Given the description of an element on the screen output the (x, y) to click on. 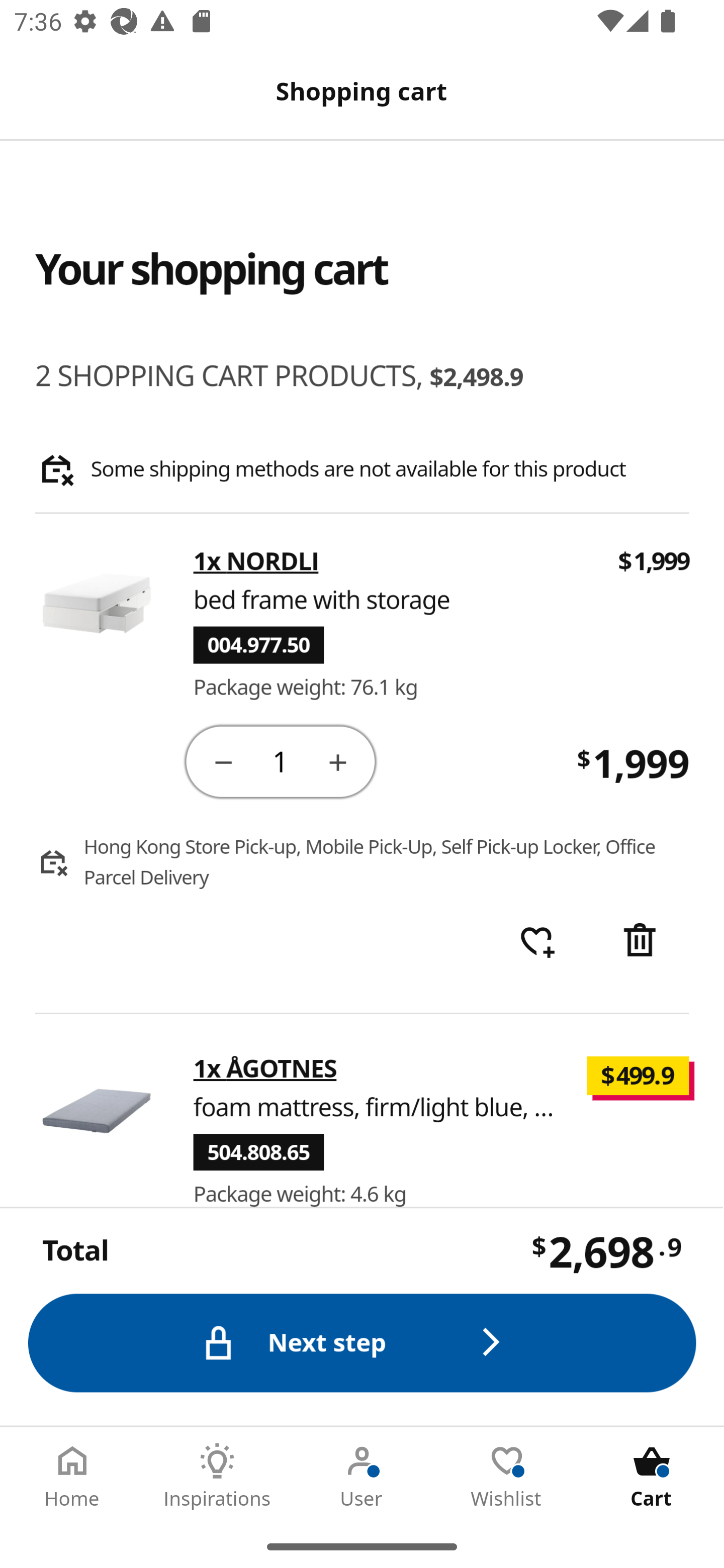
1x  NORDLI 1x  NORDLI (256, 561)
1 (281, 760)
 (223, 761)
 (338, 761)
  (536, 942)
 (641, 942)
1x  ÅGOTNES 1x  ÅGOTNES (265, 1068)
Home
Tab 1 of 5 (72, 1476)
Inspirations
Tab 2 of 5 (216, 1476)
User
Tab 3 of 5 (361, 1476)
Wishlist
Tab 4 of 5 (506, 1476)
Cart
Tab 5 of 5 (651, 1476)
